Given the description of an element on the screen output the (x, y) to click on. 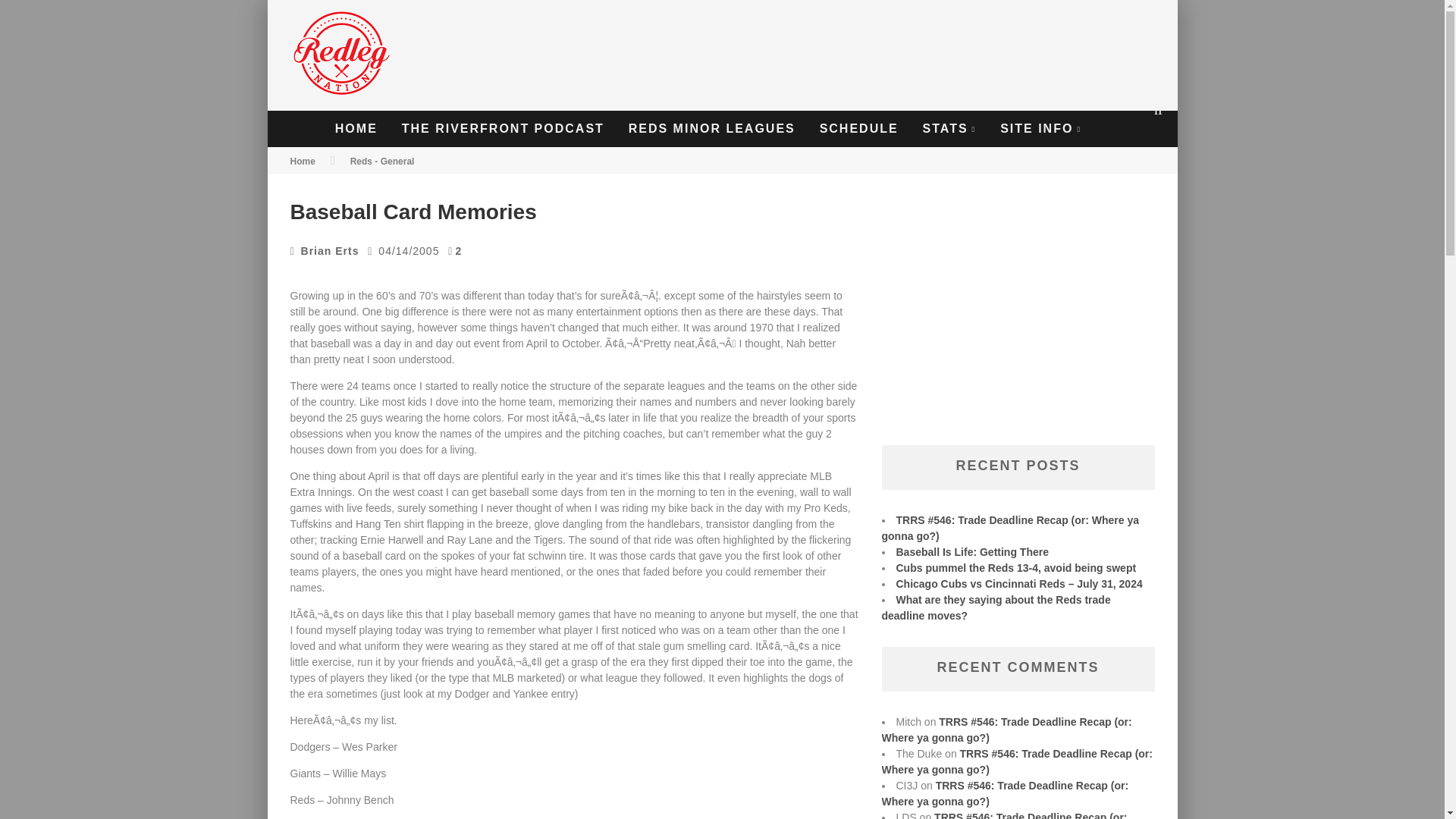
REDS MINOR LEAGUES (711, 128)
STATS (949, 128)
View all posts in Reds - General (382, 161)
THE RIVERFRONT PODCAST (502, 128)
HOME (355, 128)
SCHEDULE (859, 128)
Reds - General (382, 161)
Brian Erts (330, 250)
Home (301, 161)
SITE INFO (1040, 128)
